Given the description of an element on the screen output the (x, y) to click on. 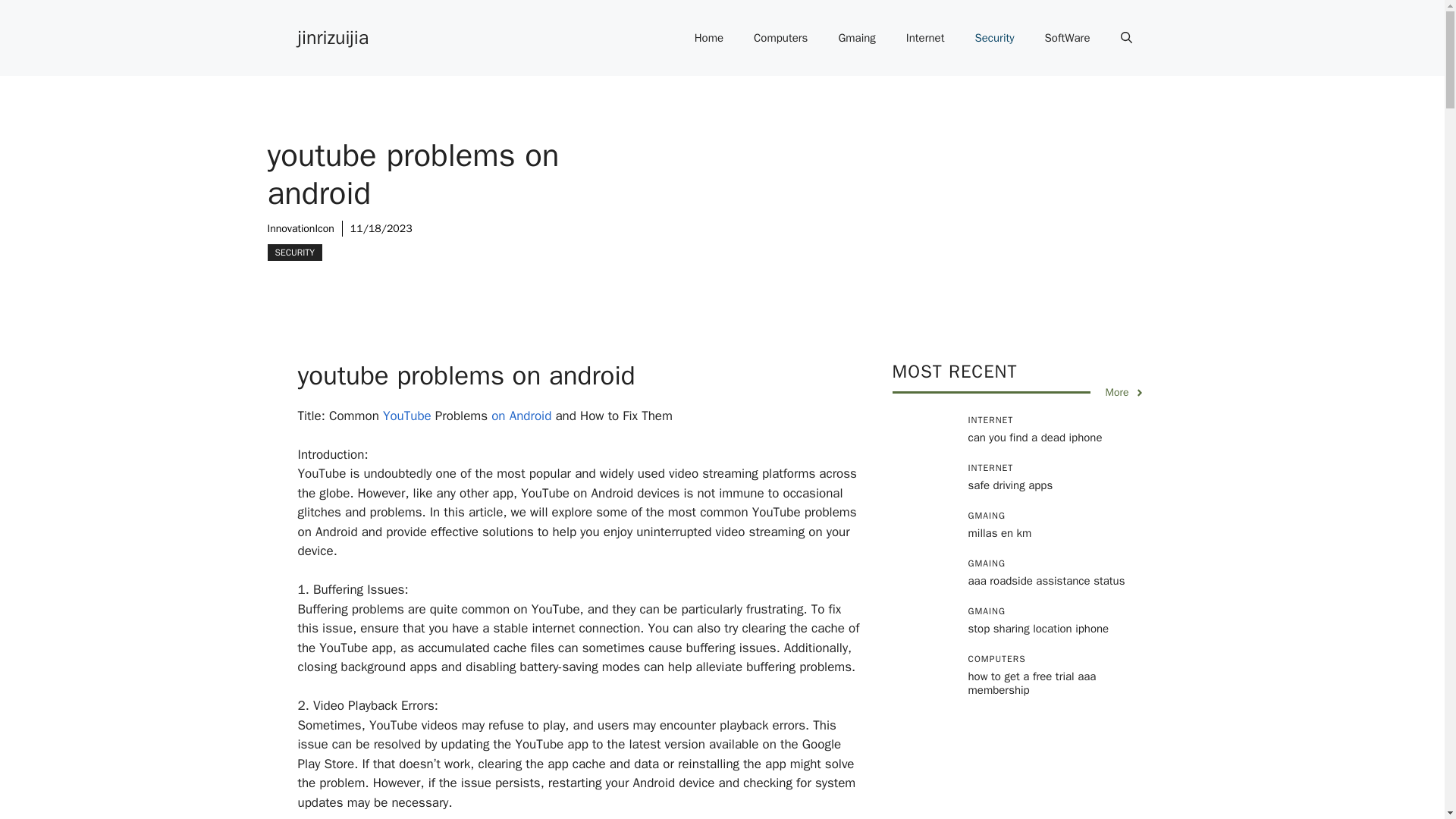
Internet (925, 37)
Gmaing (855, 37)
can you find a dead iphone (1035, 437)
SoftWare (1067, 37)
Home (708, 37)
InnovationIcon (299, 228)
SECURITY (293, 252)
on Android (521, 415)
YouTube (404, 415)
Security (994, 37)
